Given the description of an element on the screen output the (x, y) to click on. 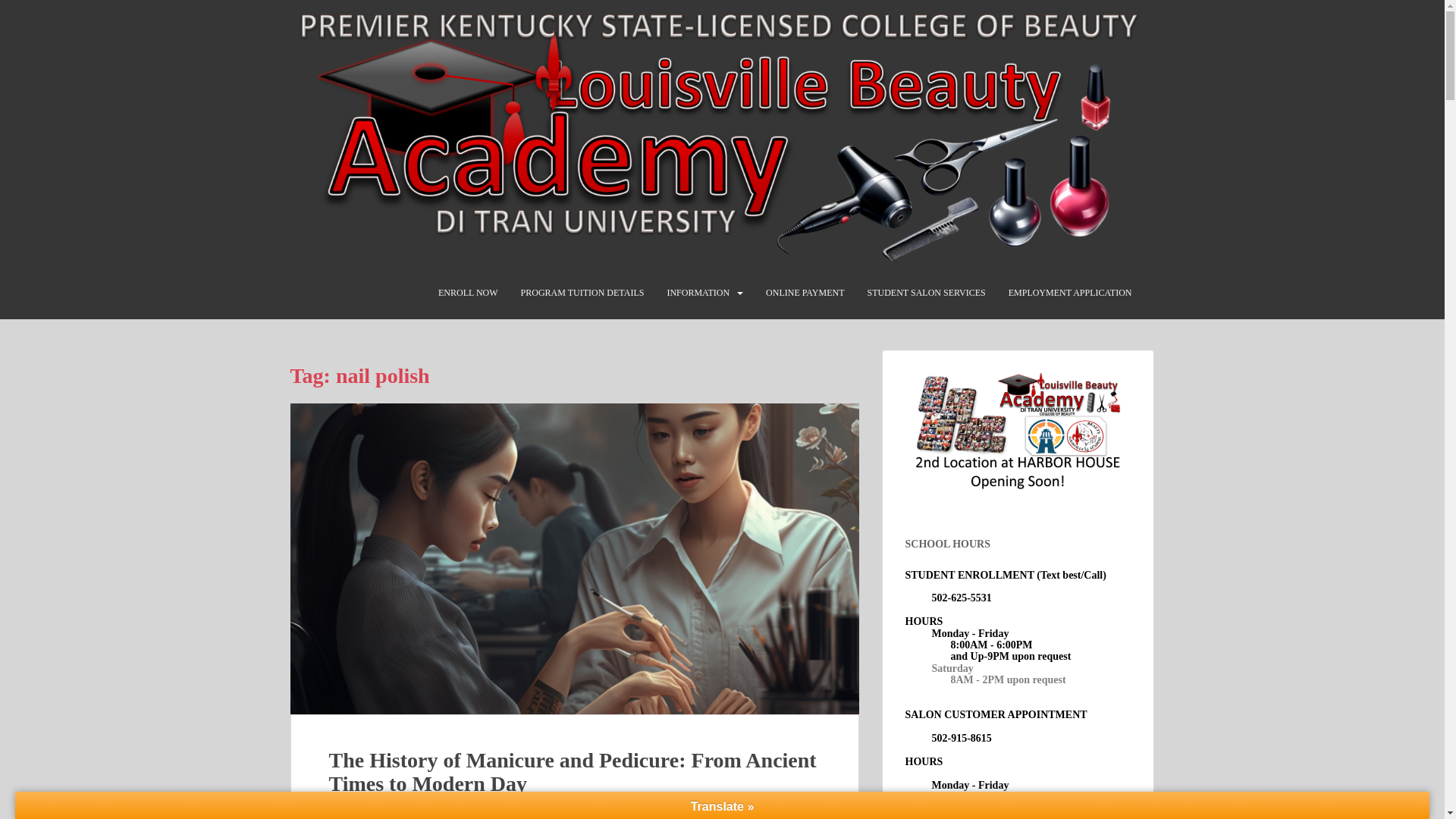
ENROLL NOW (467, 292)
ONLINE PAYMENT (804, 292)
PROGRAM TUITION DETAILS (583, 292)
STUDENT SALON SERVICES (926, 292)
INFORMATION (697, 292)
EMPLOYMENT APPLICATION (1070, 292)
